Given the description of an element on the screen output the (x, y) to click on. 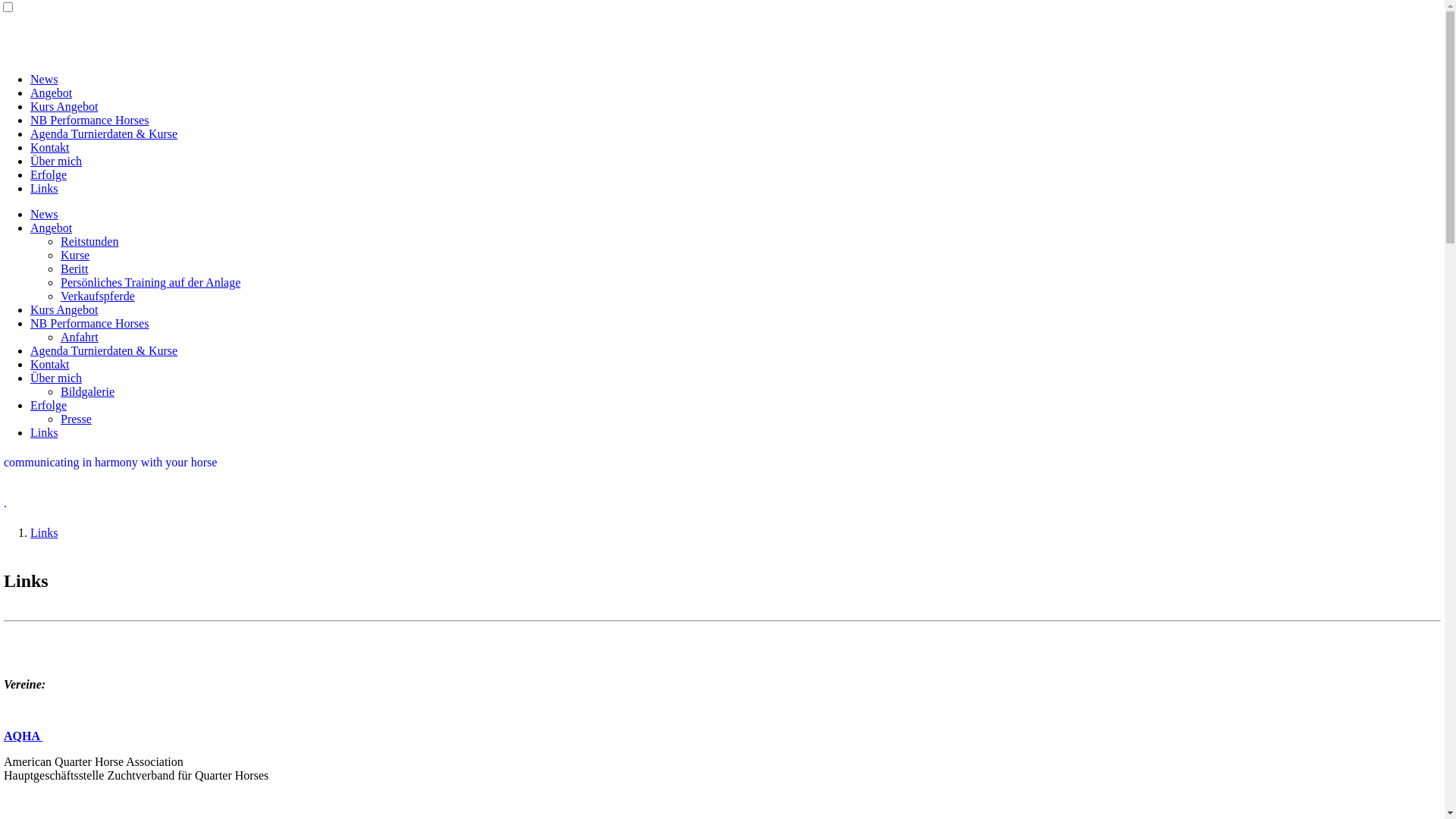
Agenda Turnierdaten & Kurse Element type: text (103, 133)
Kurse Element type: text (74, 254)
Beritt Element type: text (73, 268)
Angebot Element type: text (51, 227)
Bildgalerie Element type: text (87, 391)
Links Element type: text (43, 432)
Links Element type: text (43, 188)
communicating in harmony with your horse


. Element type: text (109, 482)
Presse Element type: text (75, 418)
Kontakt Element type: text (49, 147)
Angebot Element type: text (51, 92)
Links Element type: text (43, 532)
AQHA  Element type: text (22, 735)
Agenda Turnierdaten & Kurse Element type: text (103, 350)
Erfolge Element type: text (48, 174)
Kurs Angebot Element type: text (63, 106)
News Element type: text (43, 78)
News Element type: text (43, 213)
NB Performance Horses Element type: text (89, 119)
Erfolge Element type: text (48, 404)
Kontakt Element type: text (49, 363)
Kurs Angebot Element type: text (63, 309)
Anfahrt Element type: text (79, 336)
Reitstunden Element type: text (89, 241)
Verkaufspferde Element type: text (97, 295)
NB Performance Horses Element type: text (89, 322)
